Given the description of an element on the screen output the (x, y) to click on. 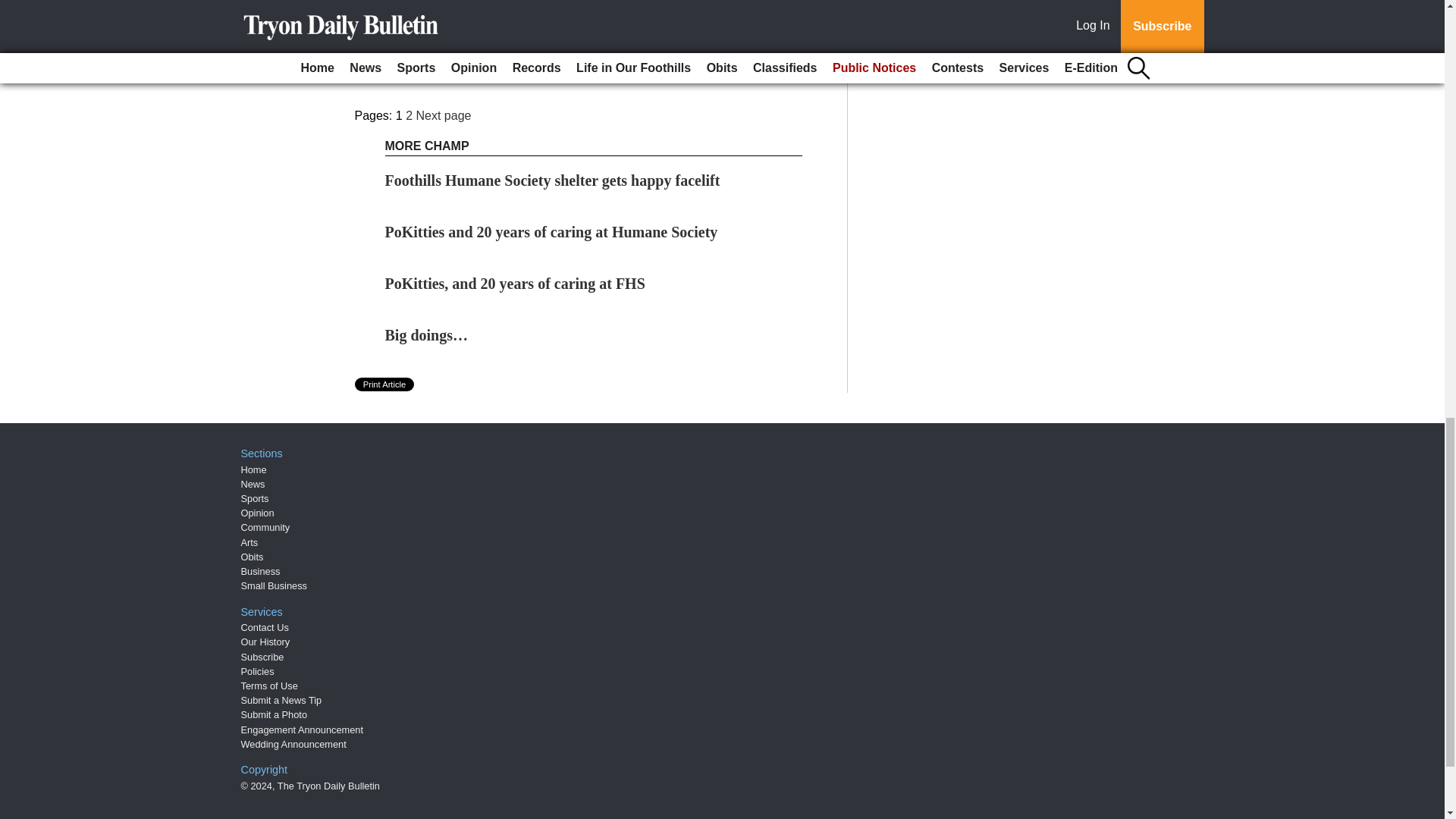
Foothills Humane Society shelter gets happy facelift (552, 180)
PoKitties and 20 years of caring at Humane Society (551, 231)
2 (409, 115)
PoKitties, and 20 years of caring at FHS (515, 283)
Subscribe (434, 66)
Subscribe (434, 66)
